Given the description of an element on the screen output the (x, y) to click on. 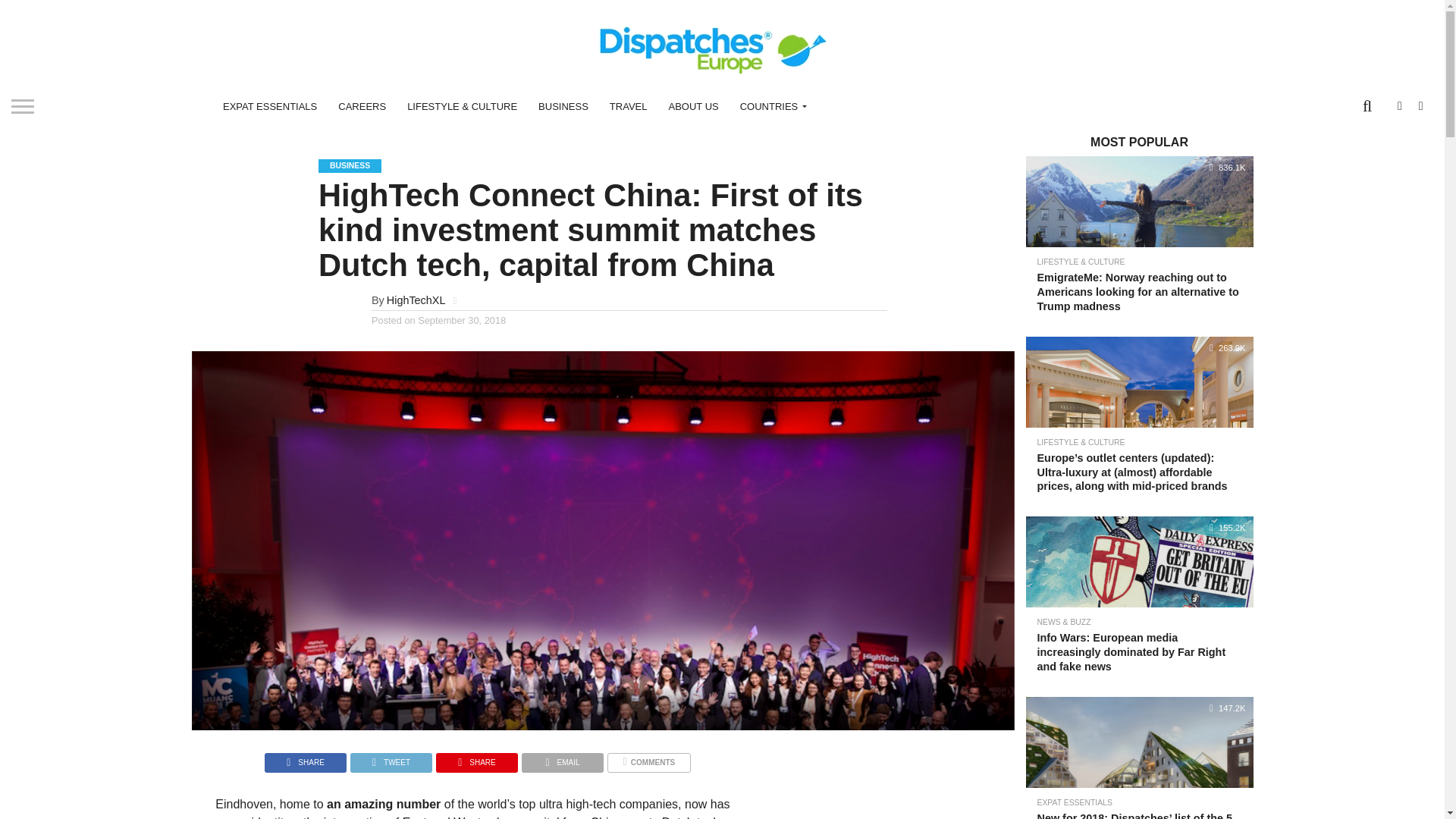
CAREERS (361, 105)
COUNTRIES (769, 105)
TRAVEL (628, 105)
Share on Facebook (305, 758)
Pin This Post (476, 758)
EXPAT ESSENTIALS (269, 105)
BUSINESS (562, 105)
Tweet This Post (390, 758)
ABOUT US (693, 105)
